Given the description of an element on the screen output the (x, y) to click on. 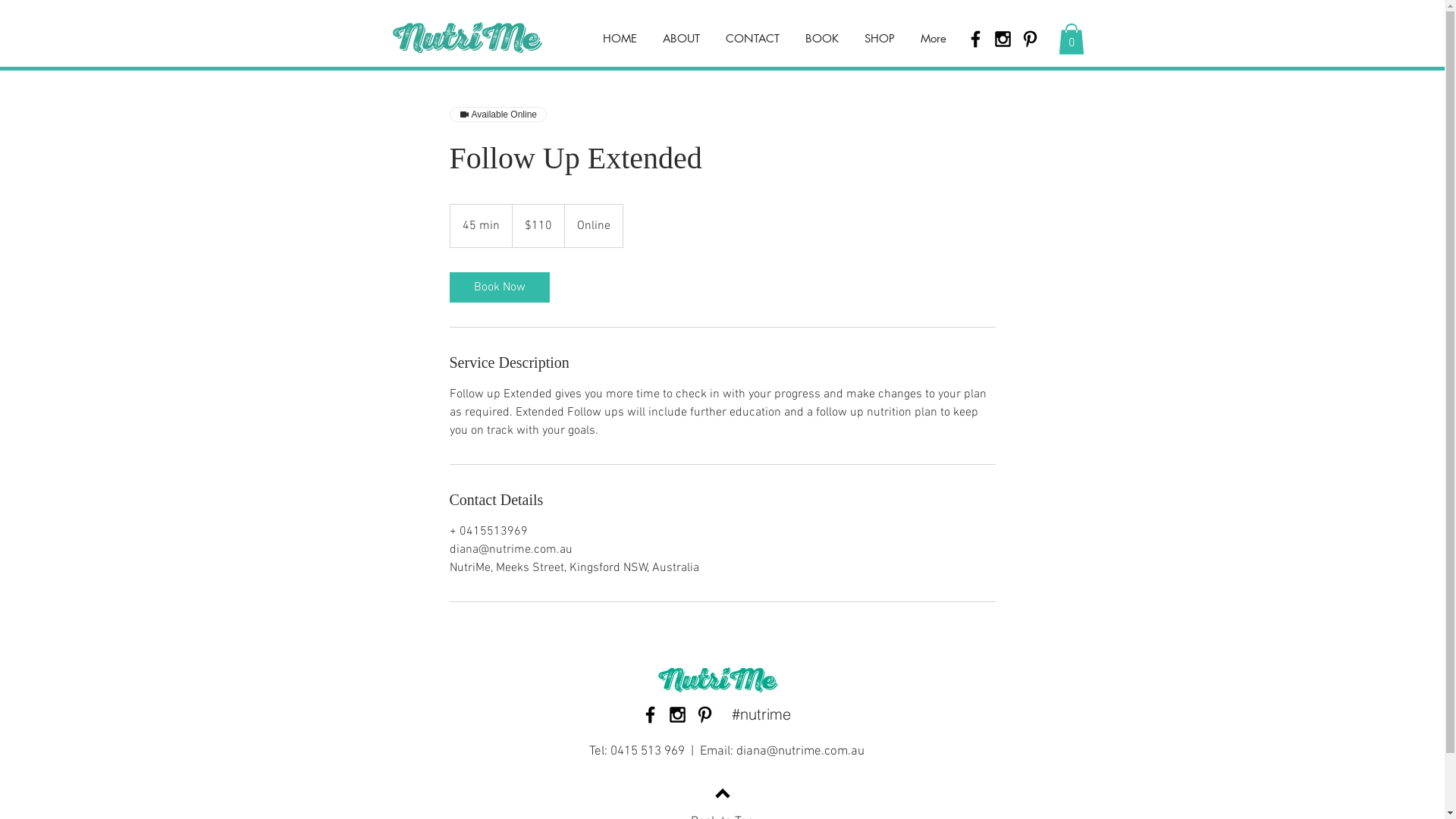
diana@nutrime.com.au Element type: text (800, 751)
CONTACT Element type: text (752, 38)
NutriMe Element type: hover (467, 37)
ABOUT Element type: text (680, 38)
0 Element type: text (1071, 38)
BOOK Element type: text (820, 38)
NutriMe Element type: hover (717, 679)
HOME Element type: text (619, 38)
SHOP Element type: text (878, 38)
Book Now Element type: text (498, 287)
